Given the description of an element on the screen output the (x, y) to click on. 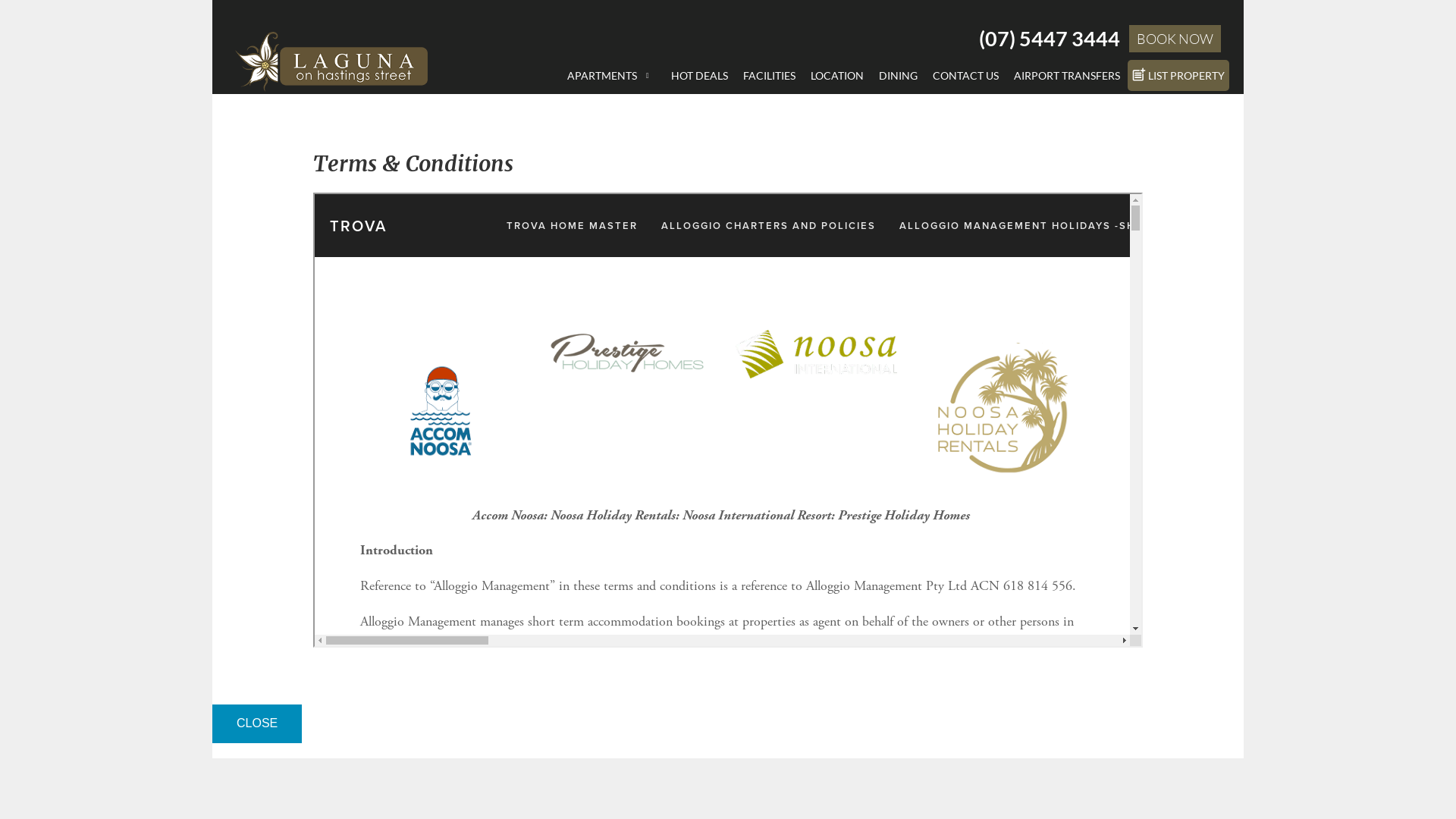
2 BEDROOM GROUND FLOOR Element type: text (647, 139)
CLOSE Element type: text (256, 723)
AIRPORT TRANSFERS Element type: text (1066, 75)
2 BEDROOM Element type: text (647, 117)
3 BEDROOM Element type: text (647, 185)
APARTMENTS Element type: text (611, 75)
LOCATION Element type: text (837, 75)
CONTACT US Element type: text (965, 75)
EXECUTIVE 2 BEDROOM Element type: text (647, 162)
DINING Element type: text (898, 75)
HOT DEALS Element type: text (699, 75)
1 BEDROOM GROUND FLOOR Element type: text (647, 94)
LIST PROPERTY Element type: text (1178, 75)
(07) 5447 3444 Element type: text (1049, 37)
FACILITIES Element type: text (769, 75)
BOOK NOW Element type: text (1174, 38)
